Given the description of an element on the screen output the (x, y) to click on. 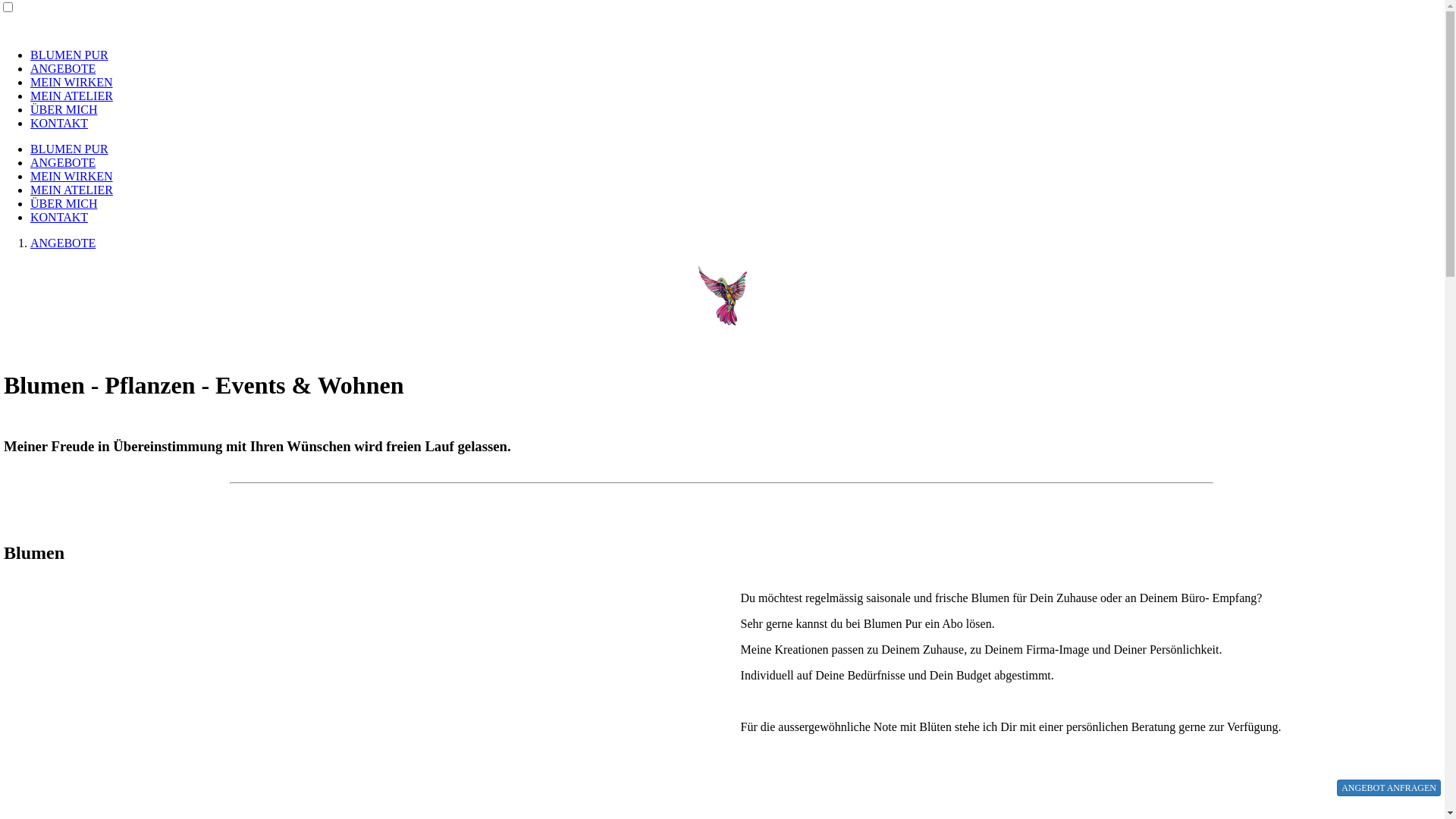
BLUMEN PUR Element type: text (69, 148)
ANGEBOTE Element type: text (62, 68)
KONTAKT Element type: text (58, 122)
MEIN WIRKEN Element type: text (71, 81)
ANGEBOTE Element type: text (62, 162)
BLUMEN PUR Element type: text (69, 54)
ANGEBOT ANFRAGEN Element type: text (1388, 787)
MEIN ATELIER Element type: text (71, 189)
MEIN WIRKEN Element type: text (71, 175)
MEIN ATELIER Element type: text (71, 95)
KONTAKT Element type: text (58, 216)
ANGEBOTE Element type: text (62, 242)
